Given the description of an element on the screen output the (x, y) to click on. 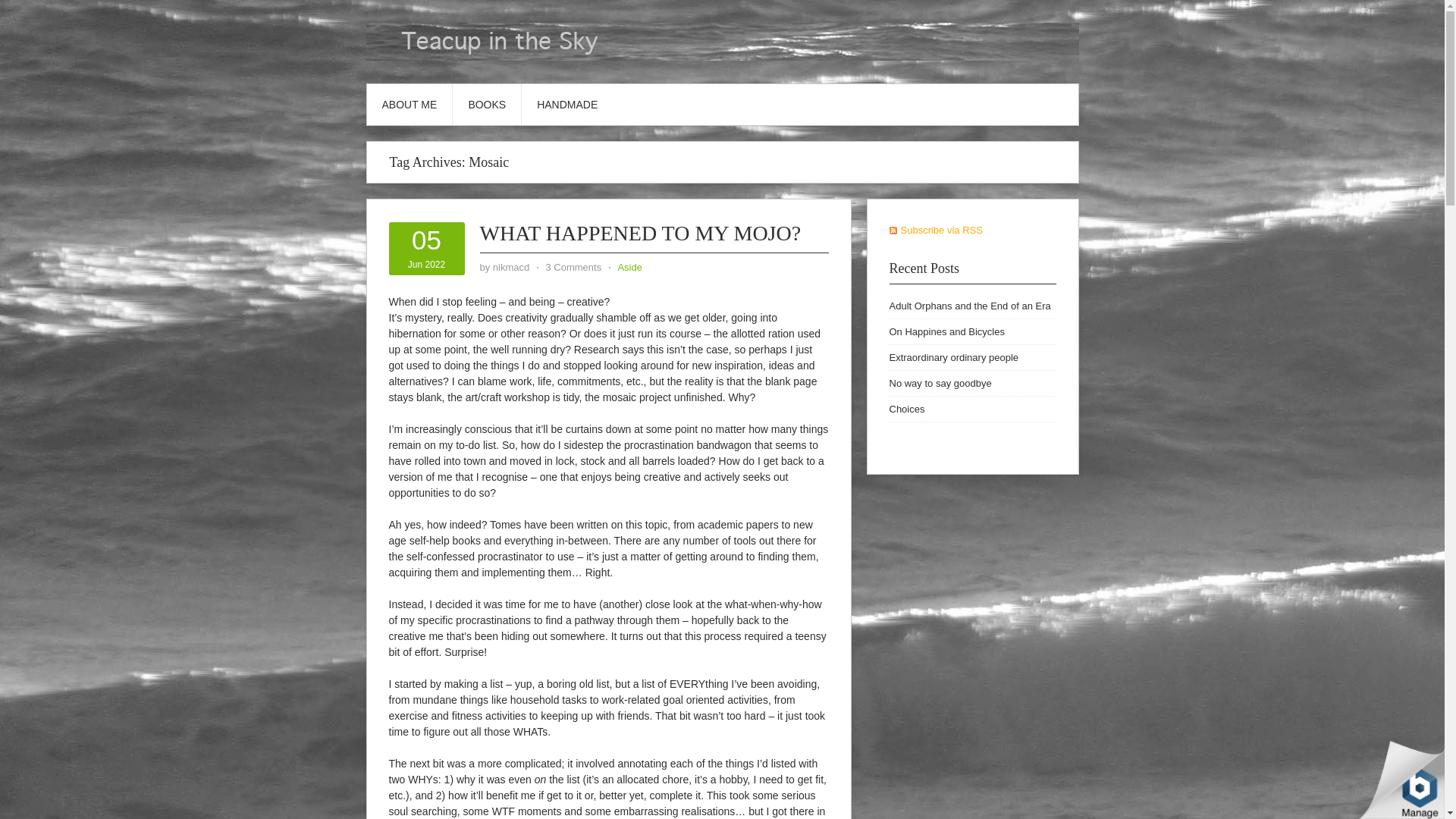
No way to say goodbye (939, 383)
Subscribe via RSS (934, 229)
3 Comments (574, 266)
by nikmacd (426, 248)
Adult Orphans and the End of an Era (511, 266)
Permalink to What happened to my mojo? (968, 306)
Extraordinary ordinary people (639, 232)
ABOUT ME (952, 357)
Choices (409, 104)
WHAT HAPPENED TO MY MOJO? (906, 408)
On Happines and Bicycles (639, 232)
BOOKS (946, 331)
HANDMADE (486, 104)
June 5, 2022 7:22 pm (566, 104)
